Given the description of an element on the screen output the (x, y) to click on. 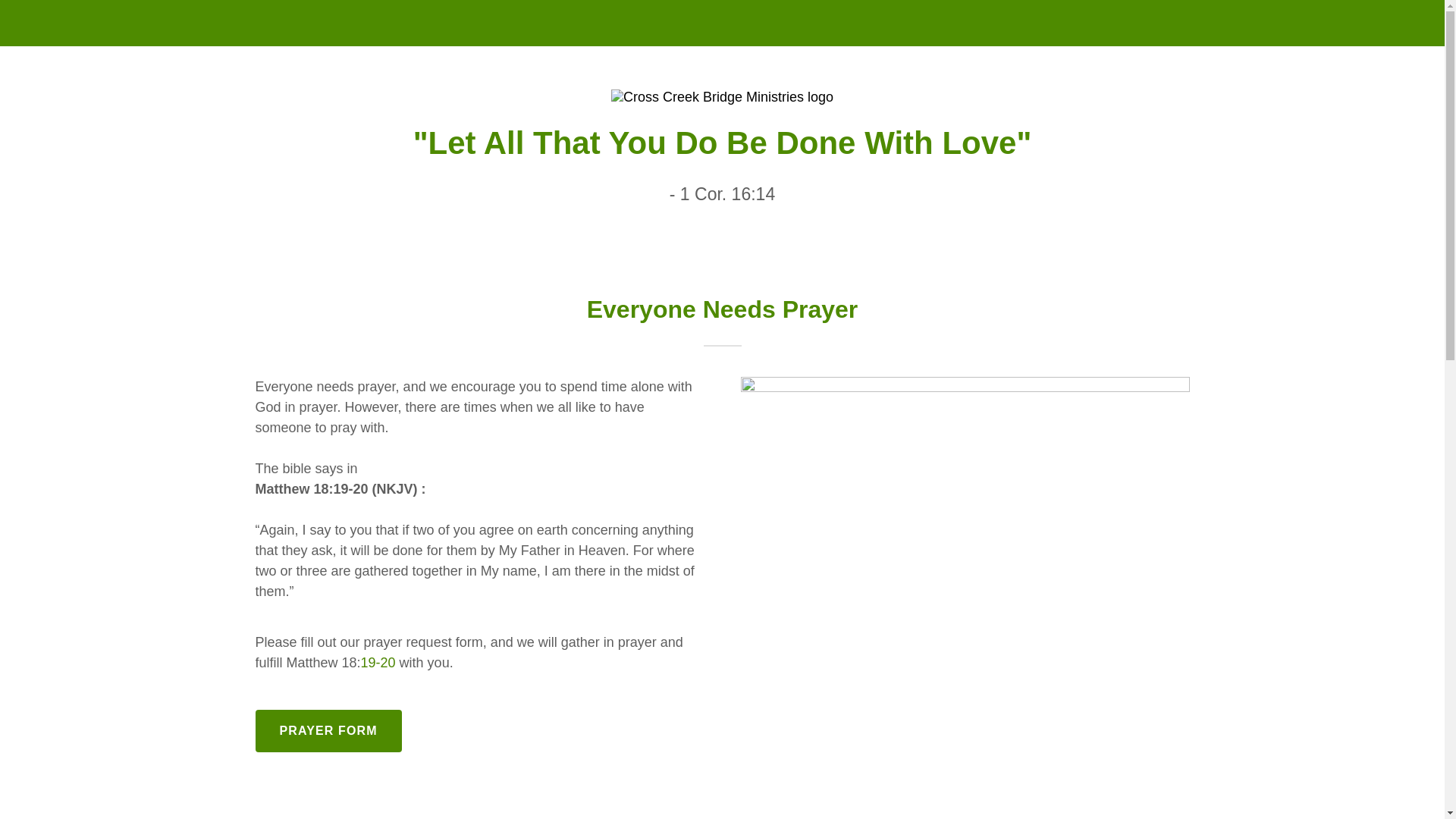
19-20 (378, 662)
PRAYER FORM (327, 731)
